Given the description of an element on the screen output the (x, y) to click on. 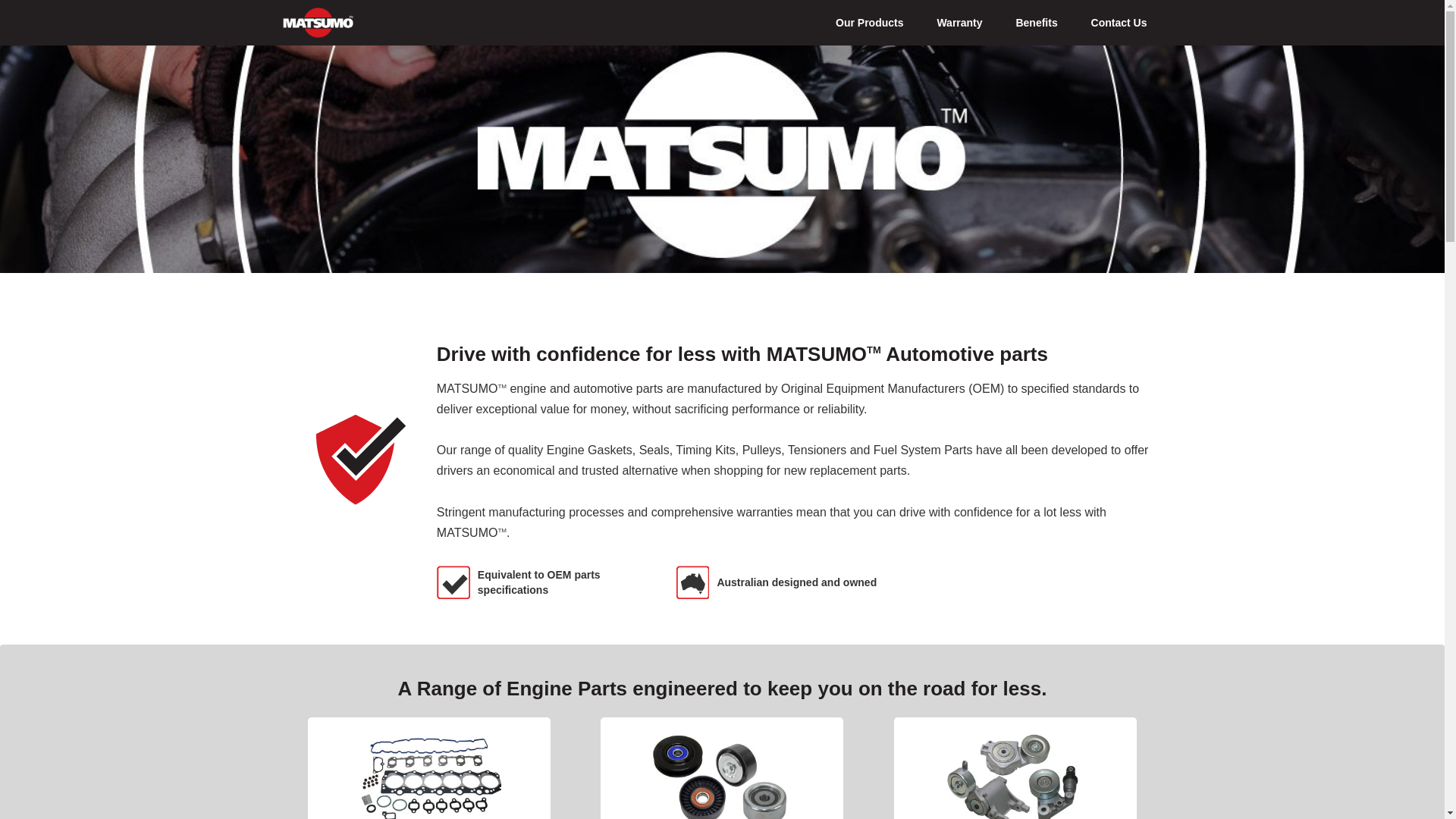
Warranty Element type: text (959, 22)
Our Products Element type: text (869, 22)
Benefits Element type: text (1036, 22)
Contact Us Element type: text (1119, 22)
